Given the description of an element on the screen output the (x, y) to click on. 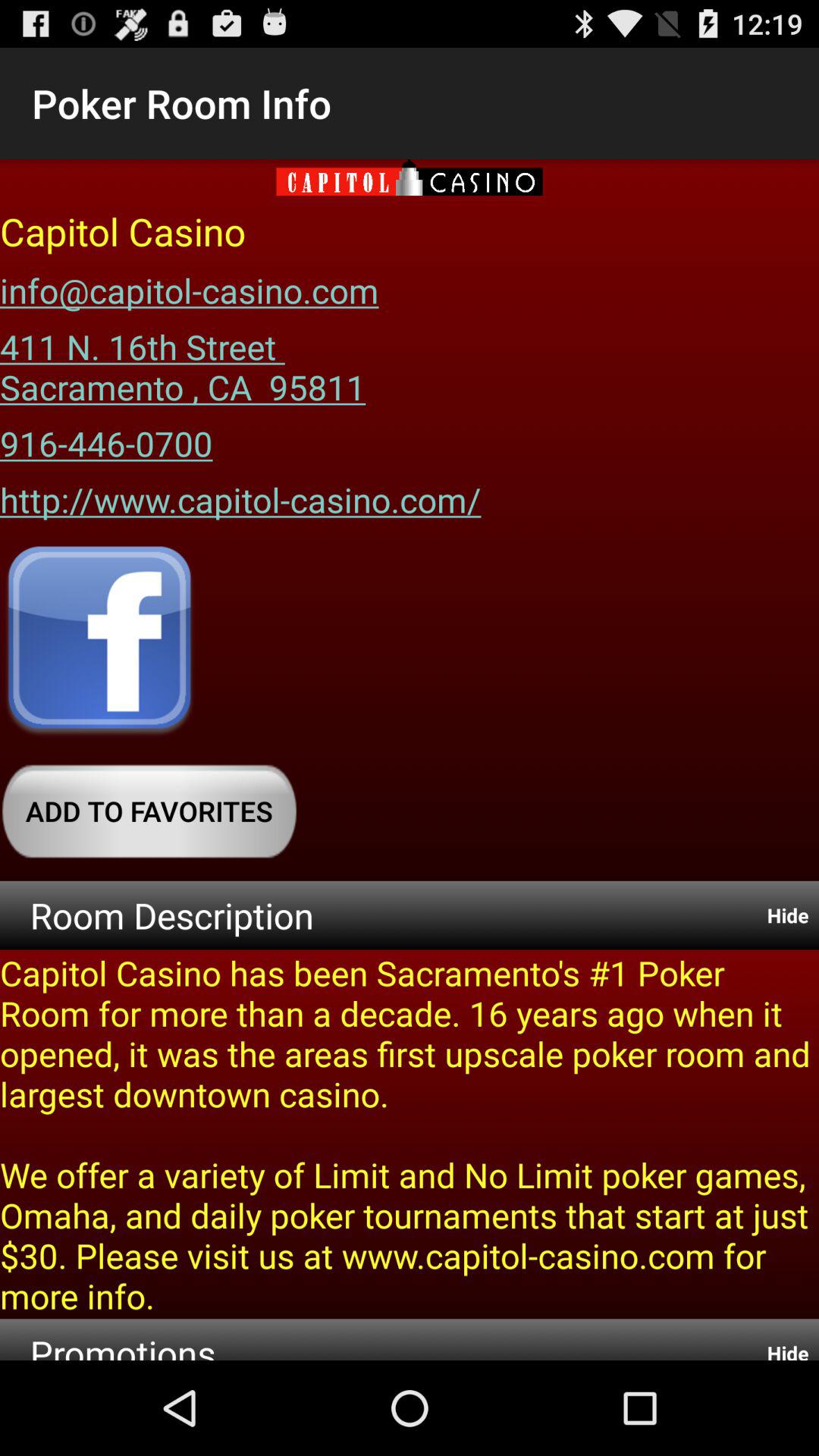
jump to the add to favorites button (149, 811)
